Given the description of an element on the screen output the (x, y) to click on. 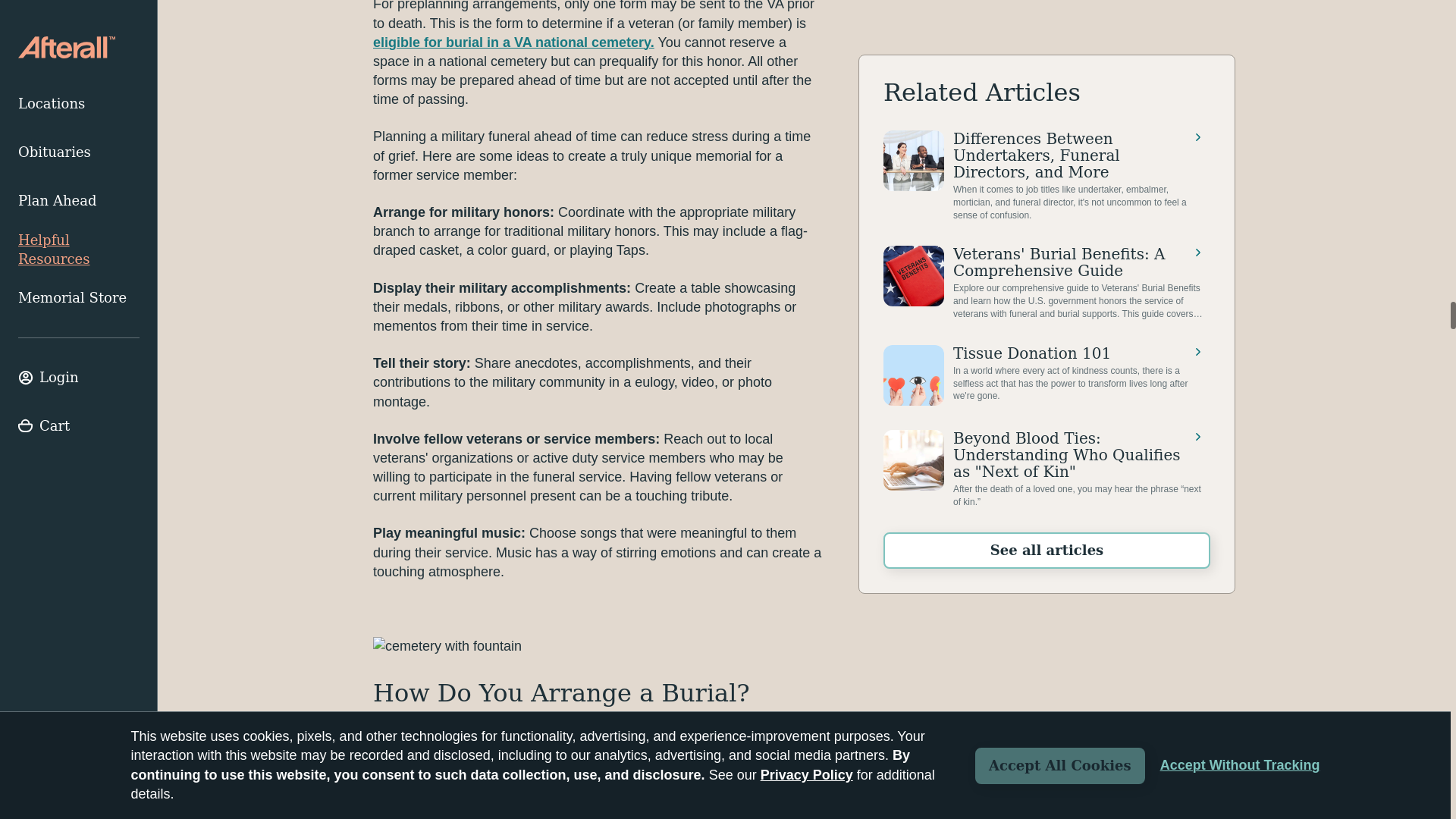
eligible for burial in a VA national cemetery. (512, 42)
